Given the description of an element on the screen output the (x, y) to click on. 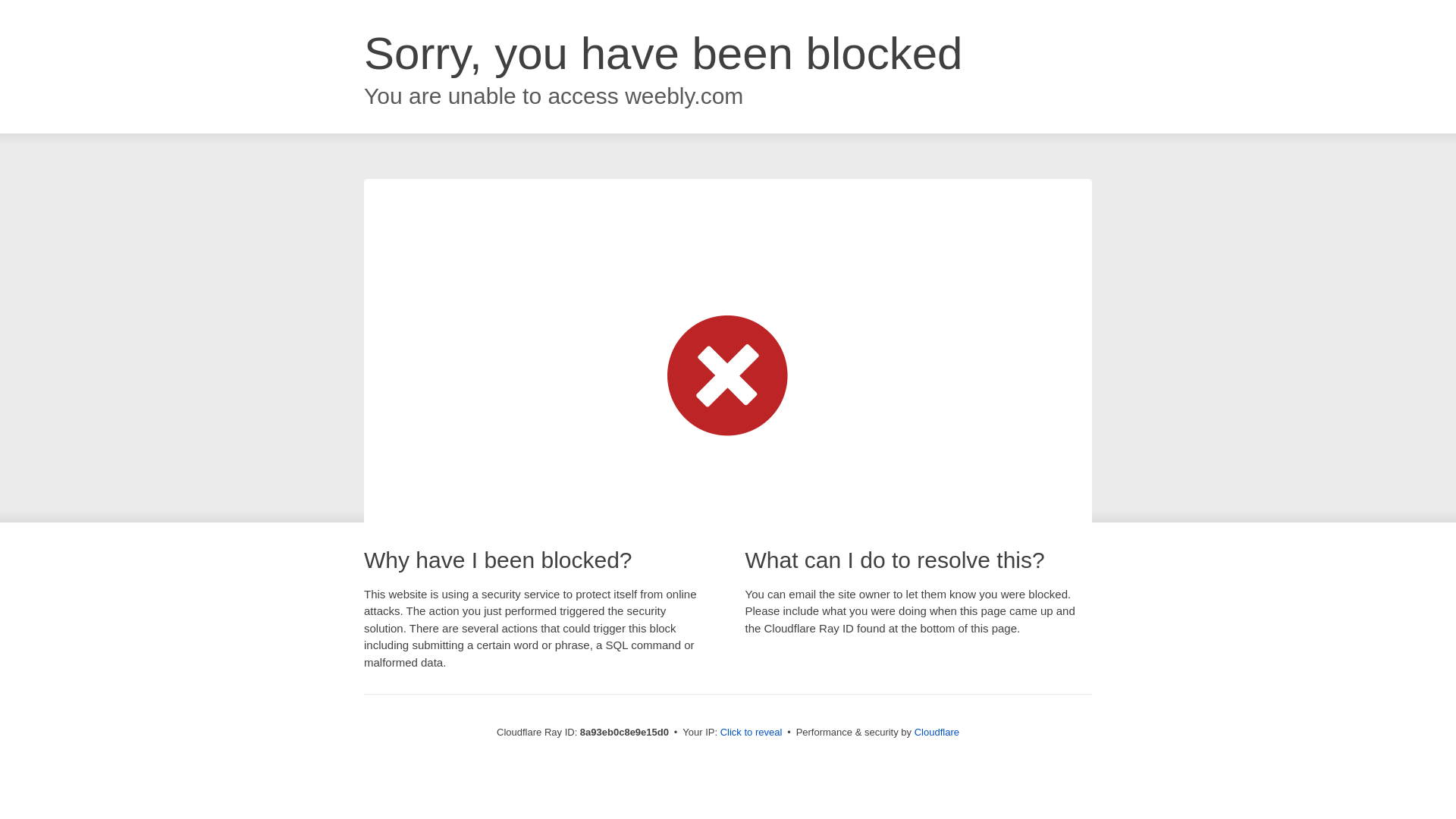
Cloudflare (936, 731)
Click to reveal (751, 732)
